Given the description of an element on the screen output the (x, y) to click on. 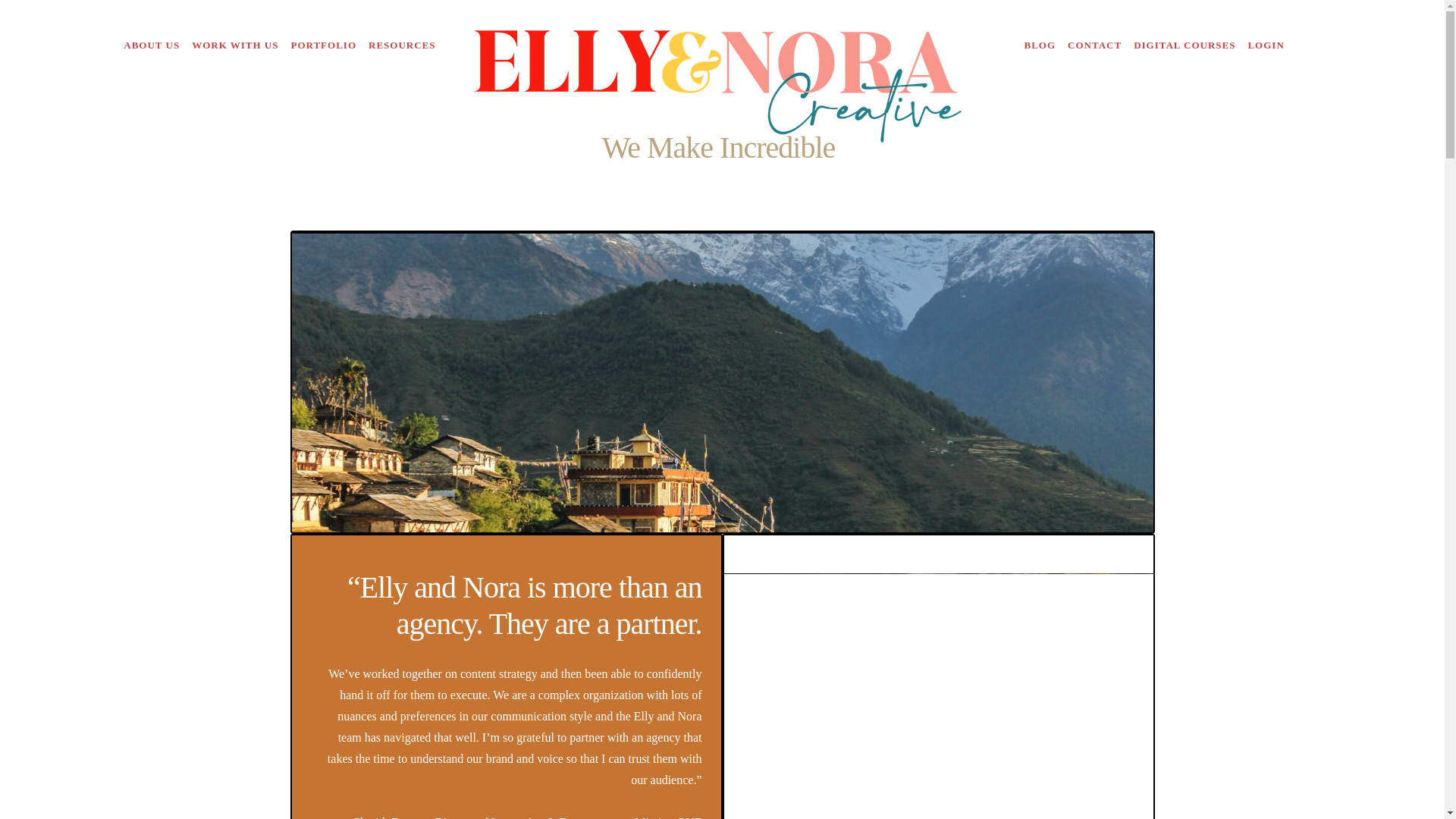
Work With Us (234, 45)
WORK WITH US (234, 45)
Charith - 2 (938, 696)
Elly and Nora Creative  (722, 45)
DIGITAL COURSES (1183, 45)
Digital Courses (1183, 45)
